Given the description of an element on the screen output the (x, y) to click on. 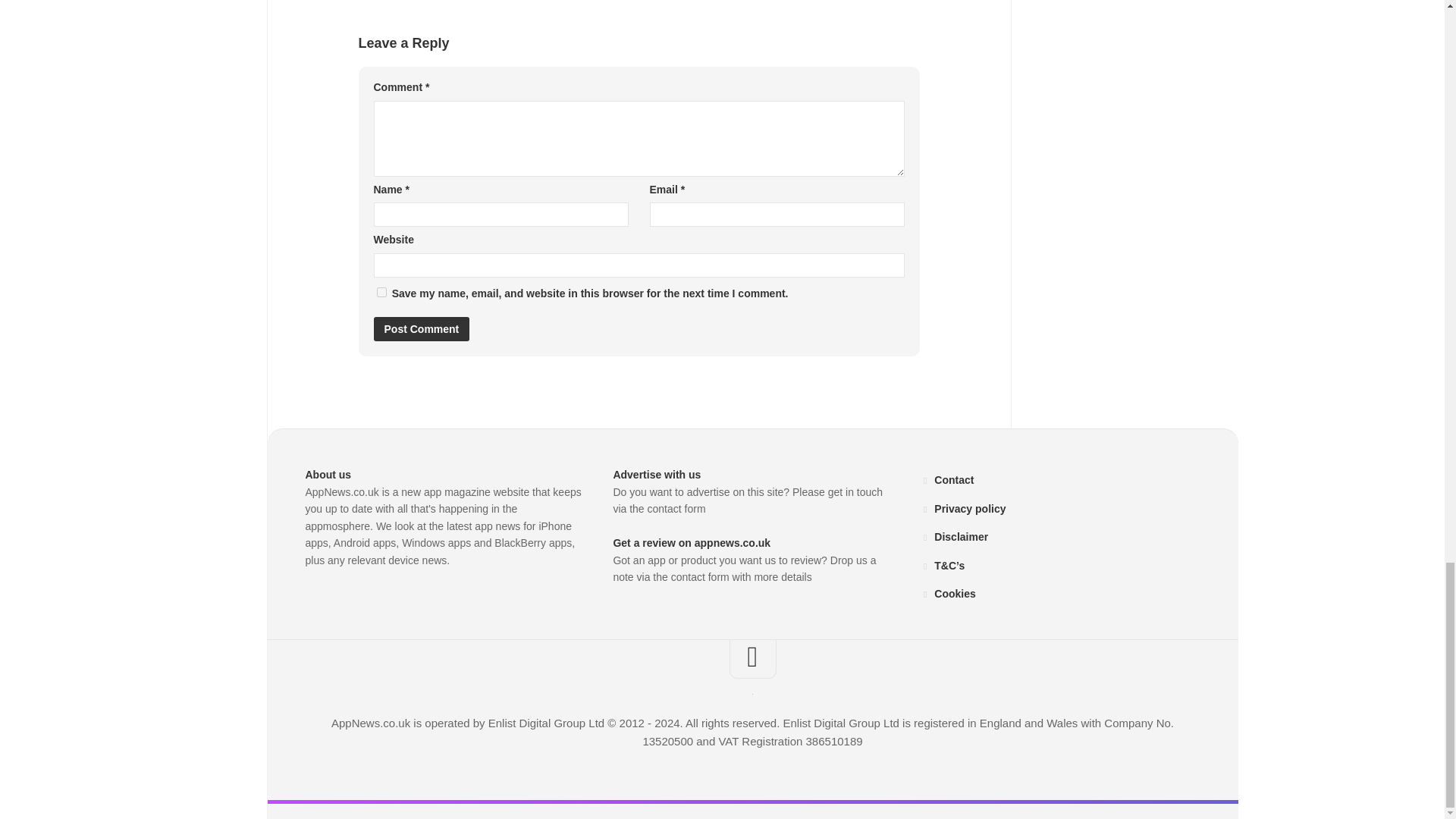
yes (380, 292)
Post Comment (420, 328)
